Given the description of an element on the screen output the (x, y) to click on. 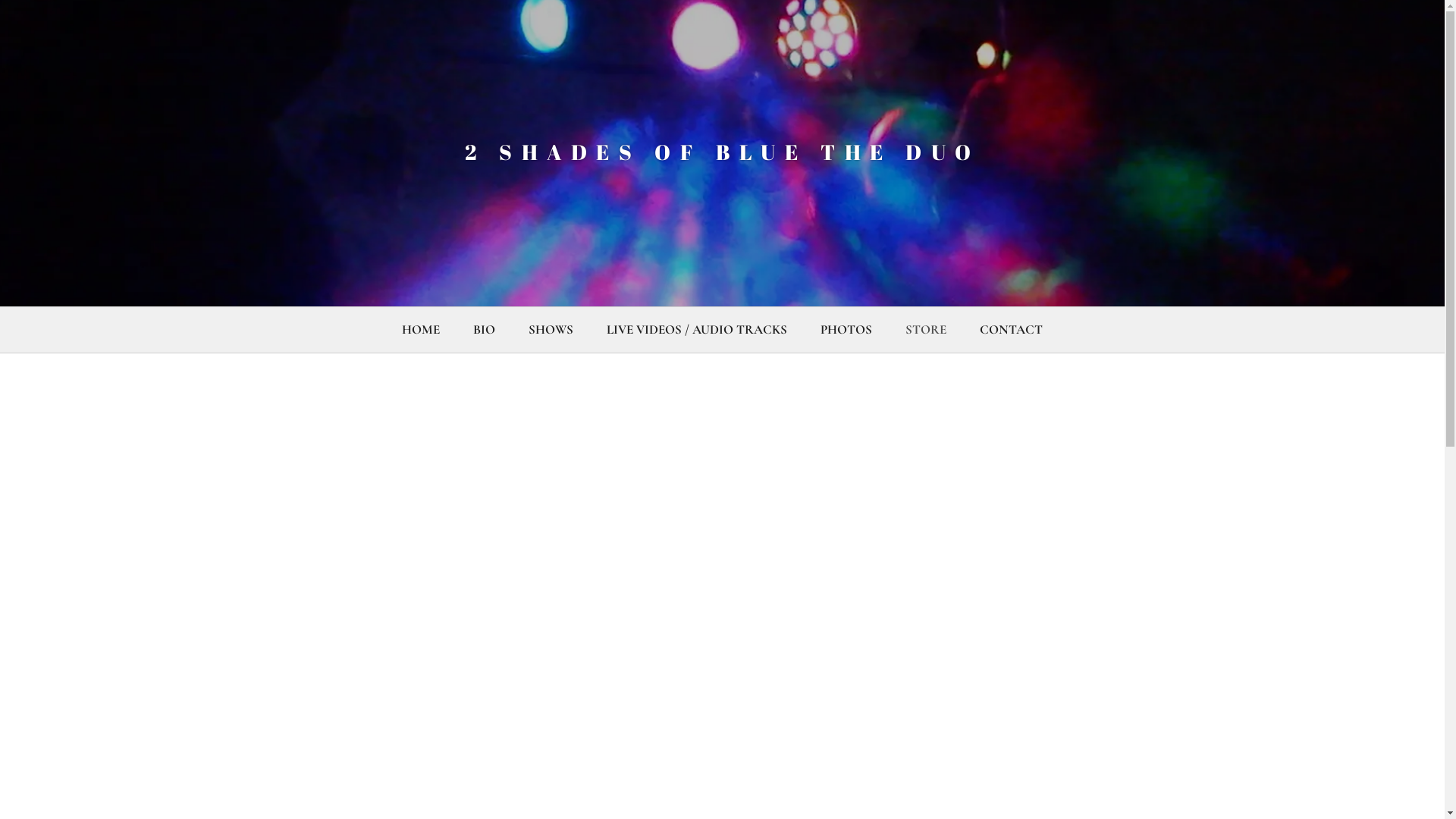
HOME Element type: text (420, 329)
STORE Element type: text (925, 329)
SHOWS Element type: text (550, 329)
LIVE VIDEOS / AUDIO TRACKS Element type: text (696, 329)
CONTACT Element type: text (1010, 329)
2 SHADES OF BLUE THE DUO Element type: text (721, 155)
BIO Element type: text (484, 329)
PHOTOS Element type: text (845, 329)
